Given the description of an element on the screen output the (x, y) to click on. 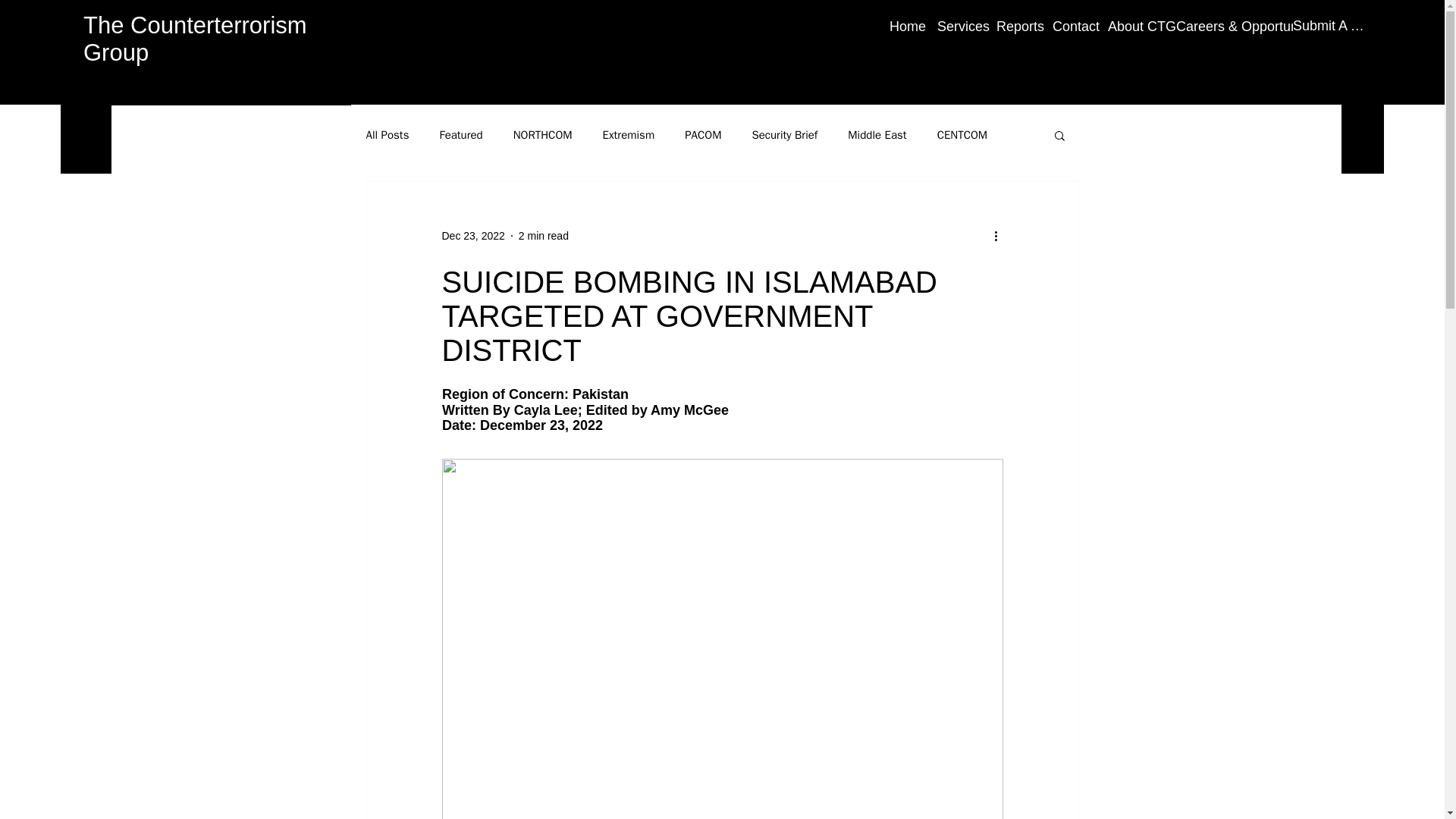
Middle East (876, 134)
2 min read (543, 234)
Submit A Tip (1330, 26)
Services (955, 26)
CENTCOM (962, 134)
Home (901, 26)
NORTHCOM (542, 134)
Reports (1013, 26)
PACOM (702, 134)
Extremism (628, 134)
